Given the description of an element on the screen output the (x, y) to click on. 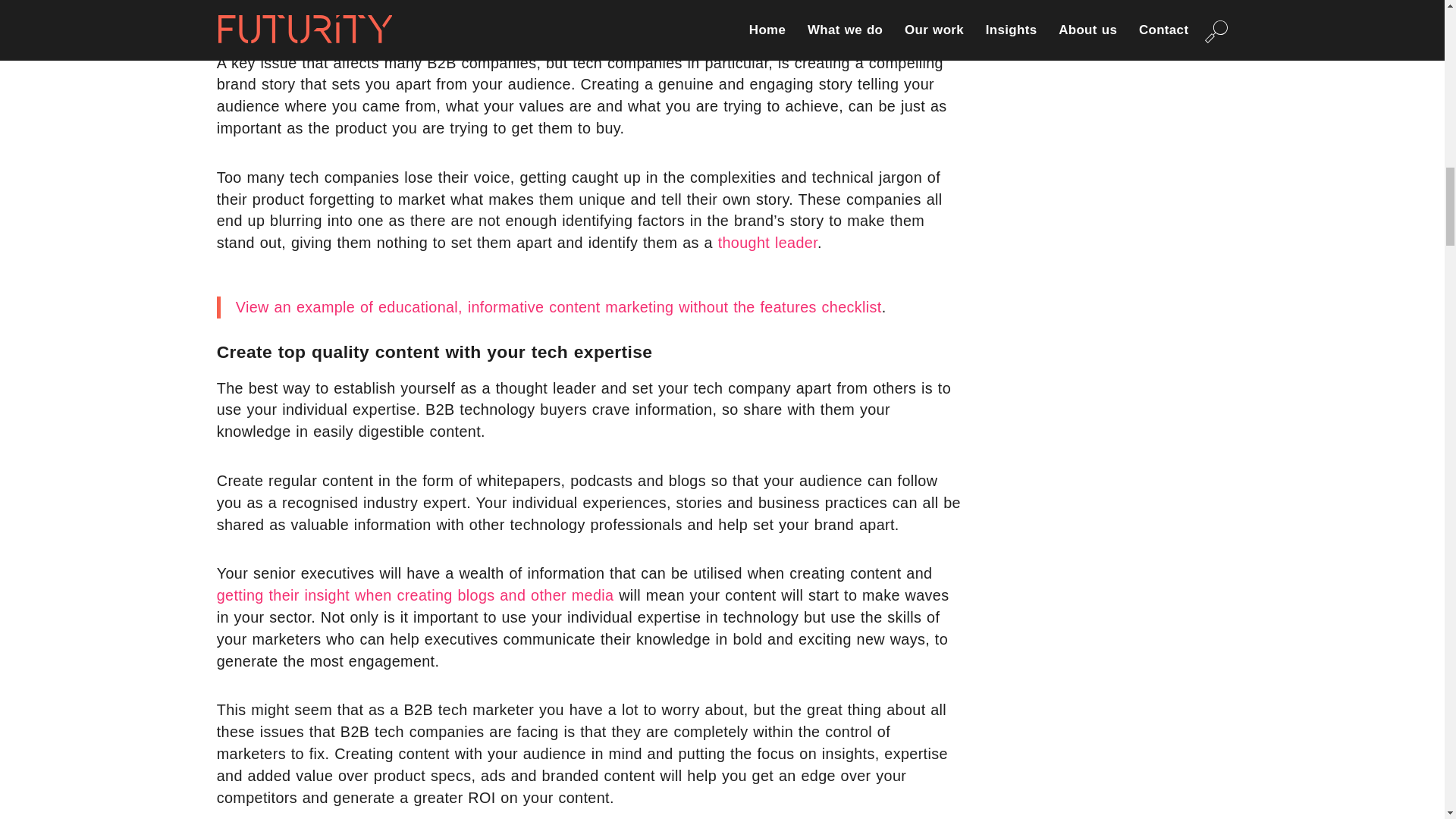
getting their insight when creating blogs and other media (415, 595)
thought leader (766, 242)
